Given the description of an element on the screen output the (x, y) to click on. 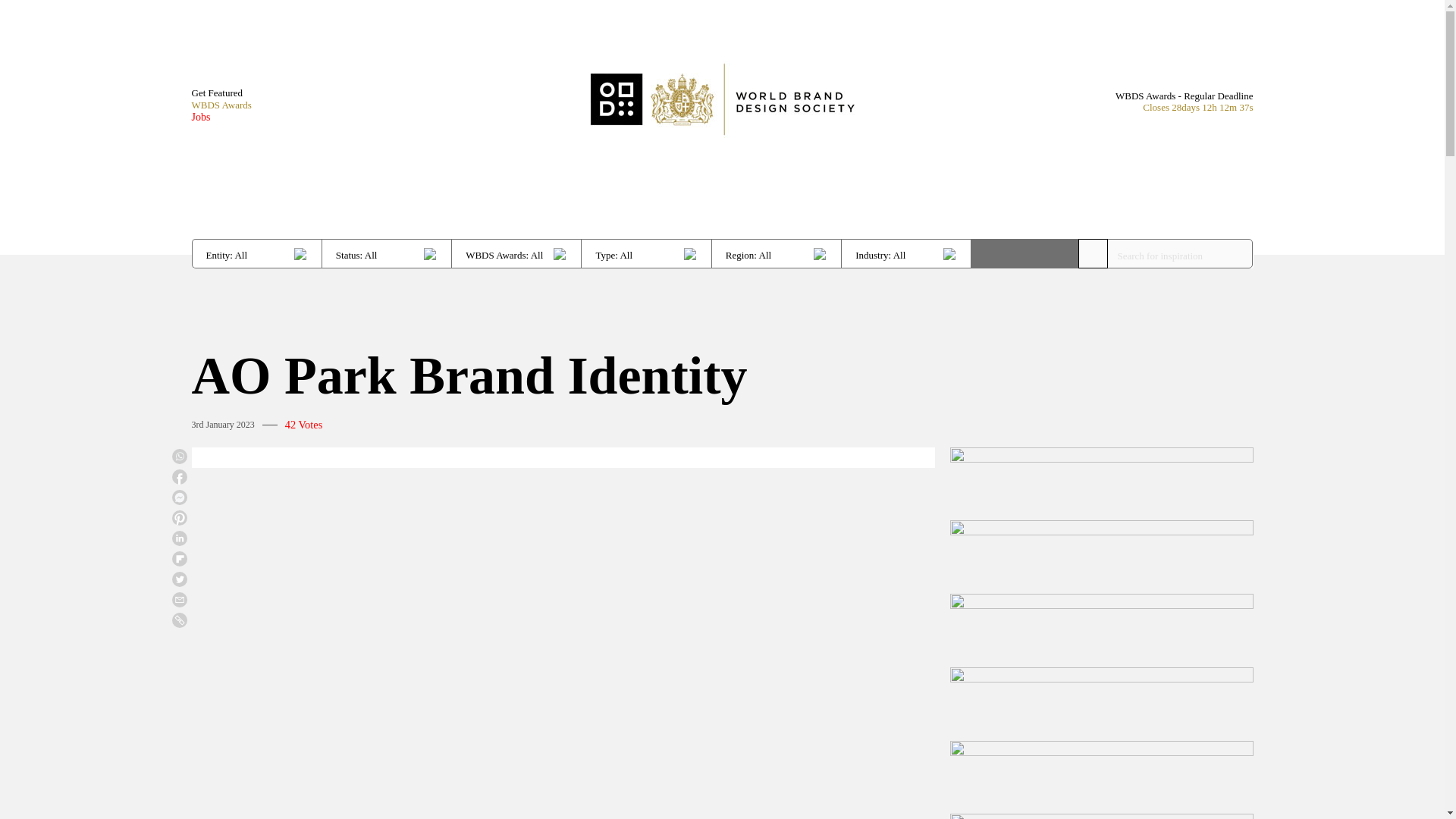
WBDS Awards (220, 104)
Search (1024, 253)
Get Featured (220, 92)
Jobs (220, 117)
Search (1024, 253)
